Given the description of an element on the screen output the (x, y) to click on. 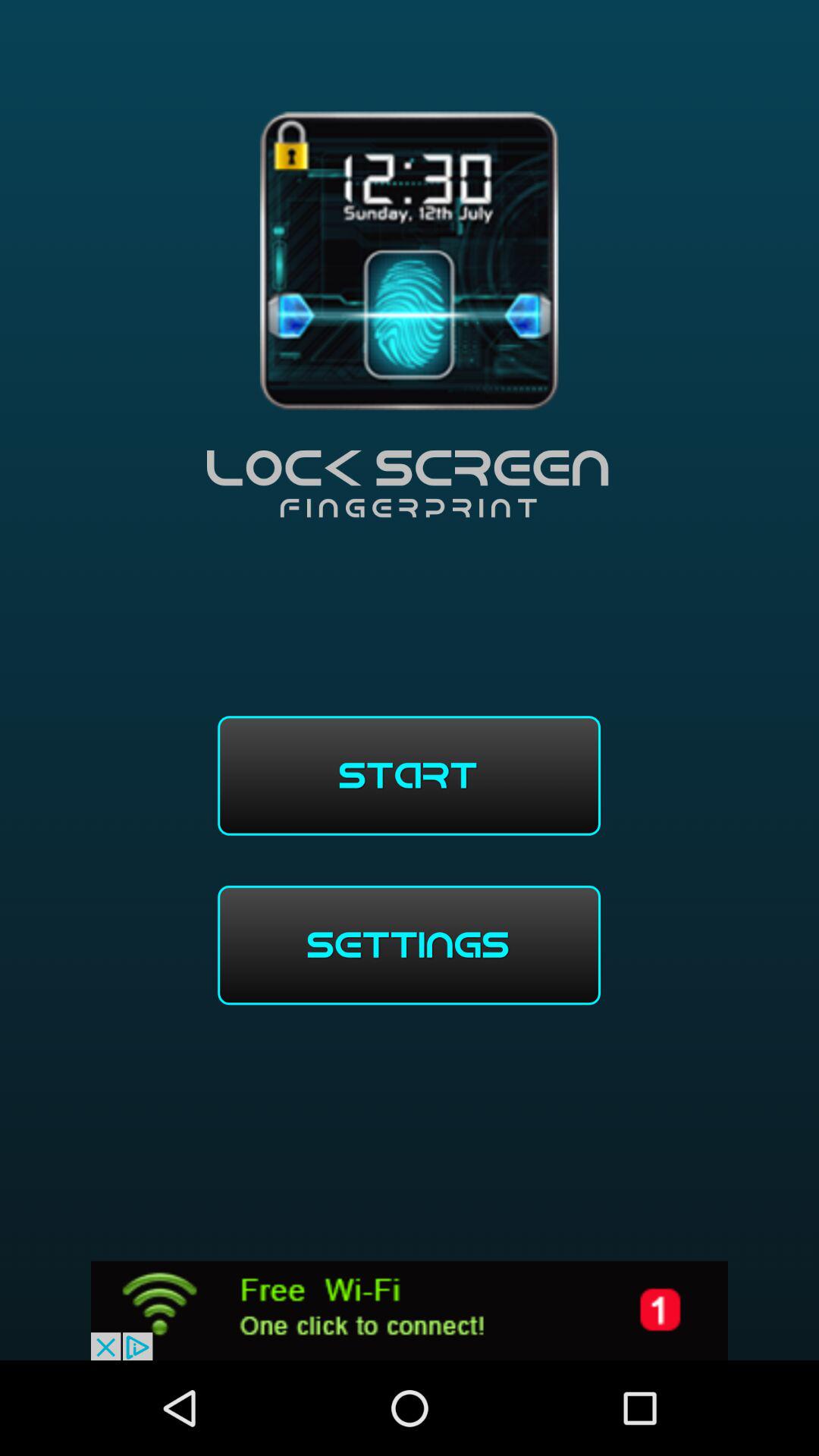
wifi (409, 1310)
